Given the description of an element on the screen output the (x, y) to click on. 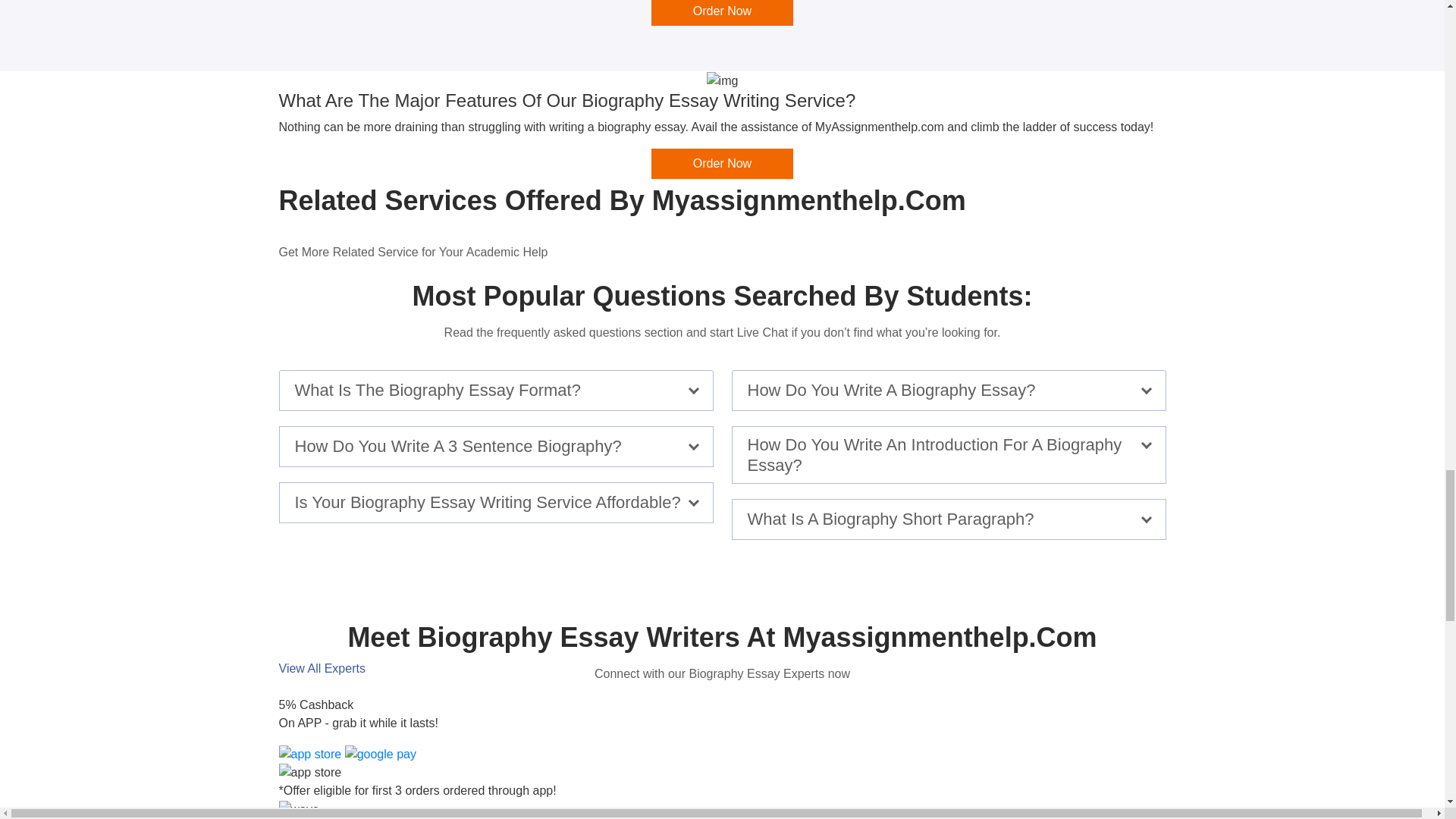
app-store (310, 753)
qrcode (310, 772)
google-pay (380, 753)
pataka (298, 809)
